Given the description of an element on the screen output the (x, y) to click on. 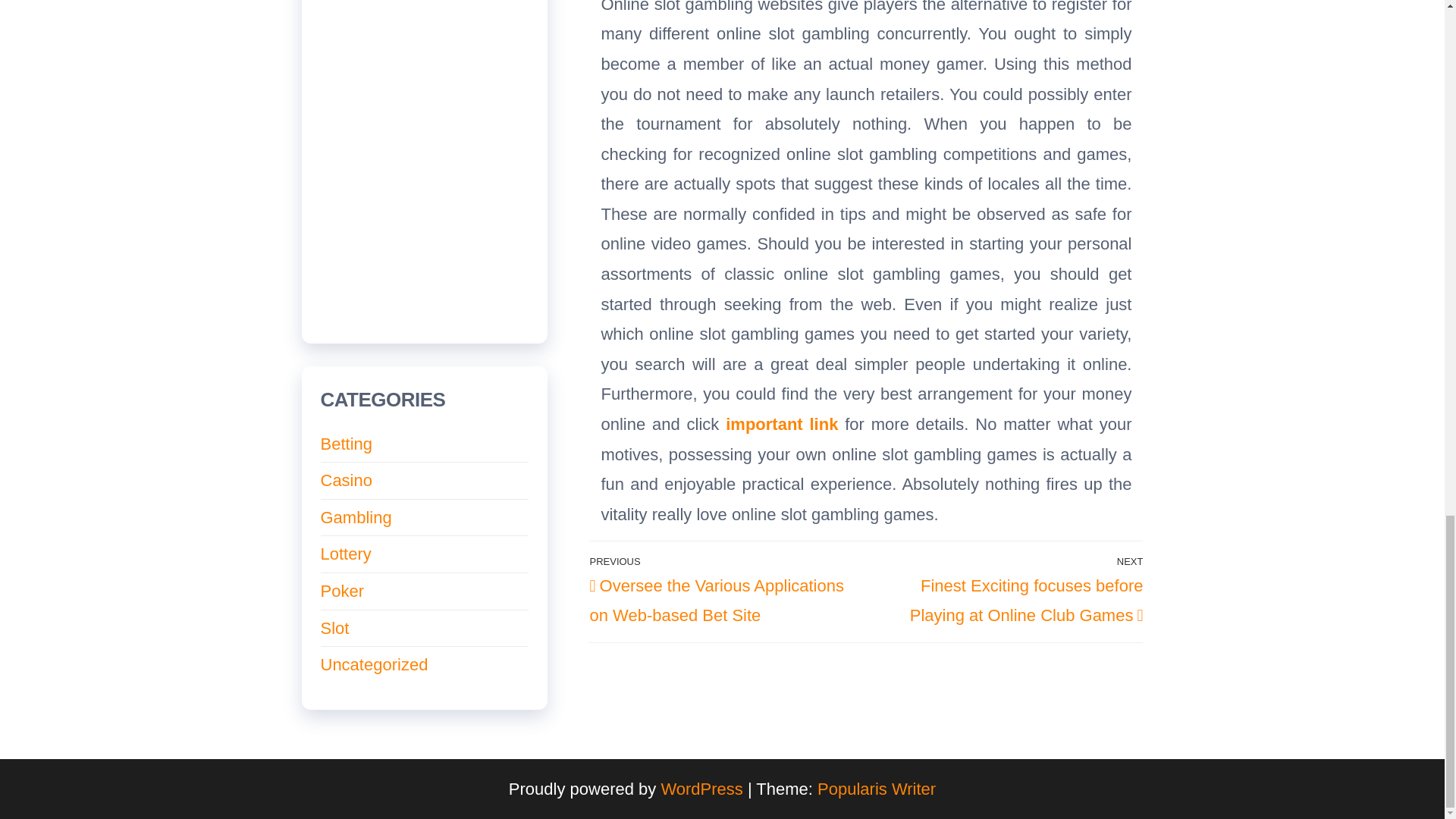
Casino (345, 479)
Slot (334, 628)
Betting (346, 443)
WordPress (701, 788)
Lottery (345, 553)
Uncategorized (374, 664)
Poker (341, 590)
important link (781, 424)
Popularis Writer (876, 788)
Gambling (355, 517)
